Given the description of an element on the screen output the (x, y) to click on. 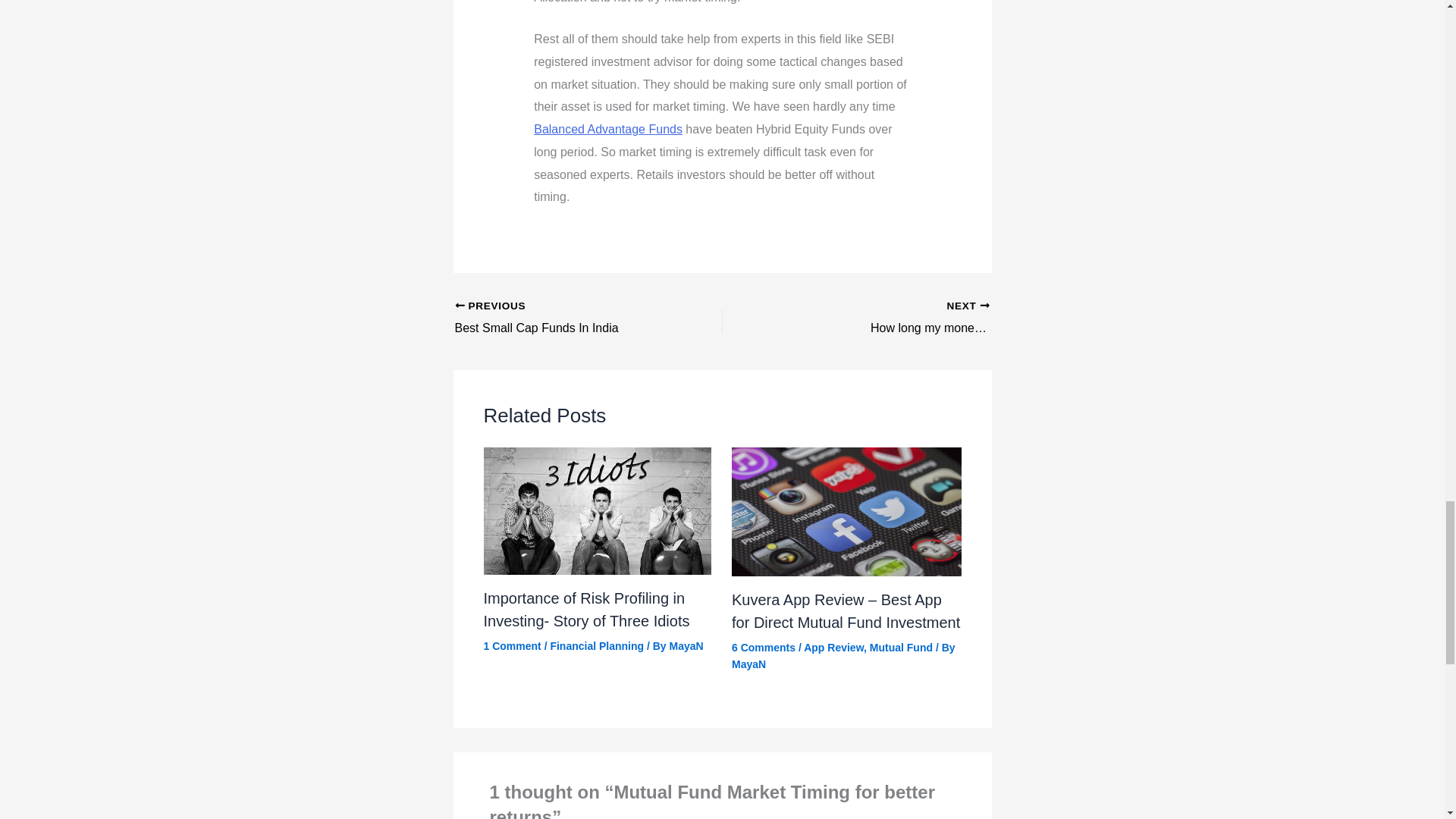
Best Balanced Advantage Funds in India (608, 128)
View all posts by MayaN (686, 645)
Balanced Advantage Funds (608, 128)
View all posts by MayaN (561, 318)
How long my money will last? (748, 664)
Best Small Cap Funds In India (923, 318)
